Given the description of an element on the screen output the (x, y) to click on. 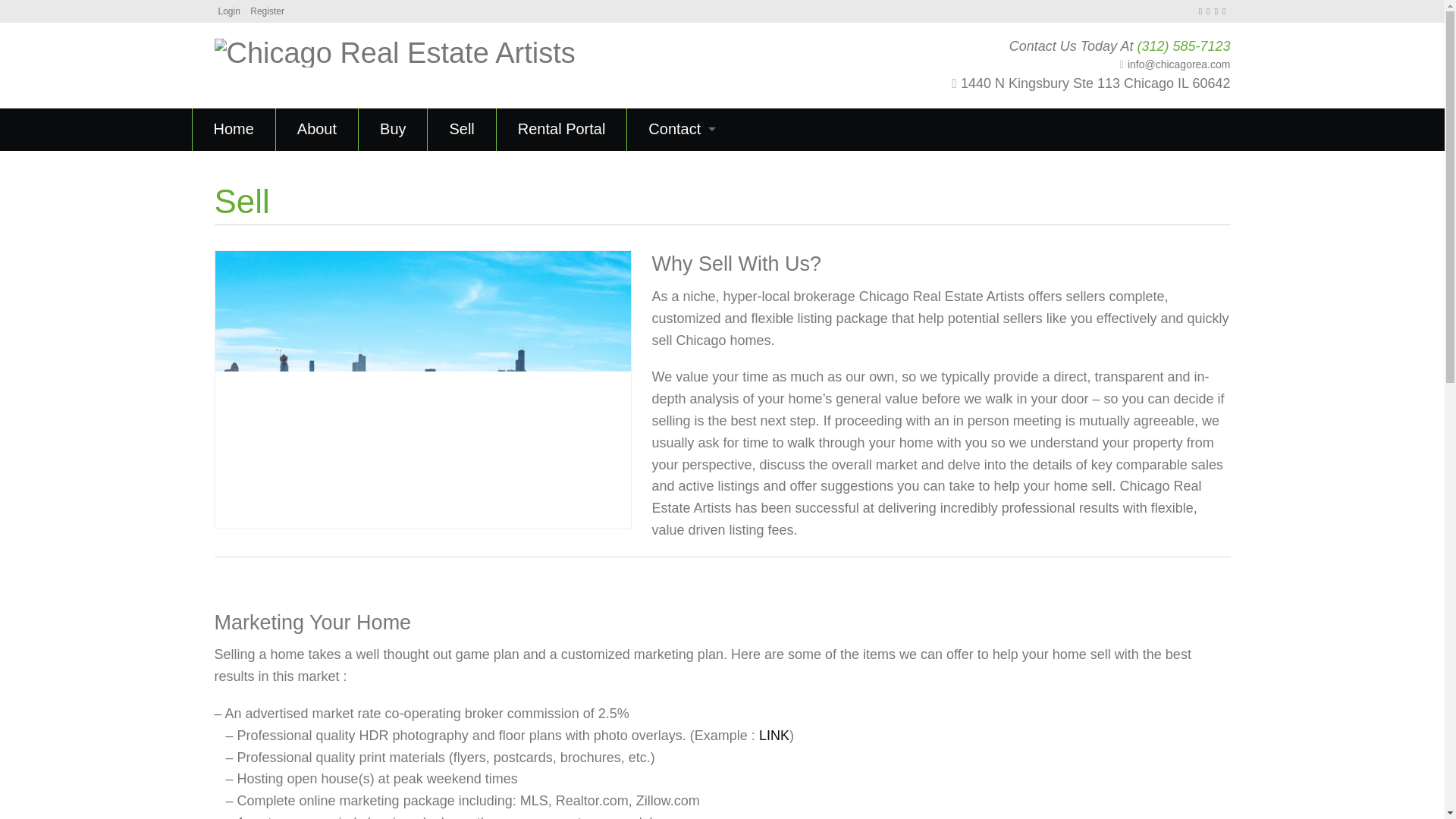
Login (229, 10)
Register (266, 10)
Chicago Real Estate Artists (394, 50)
Rental Portal (561, 129)
Laura Lindgren (681, 384)
Ken Olsen (681, 554)
Cecil Sabu (681, 171)
Brady Miller (681, 256)
Michael Vrielink (681, 214)
LINK (773, 735)
